Given the description of an element on the screen output the (x, y) to click on. 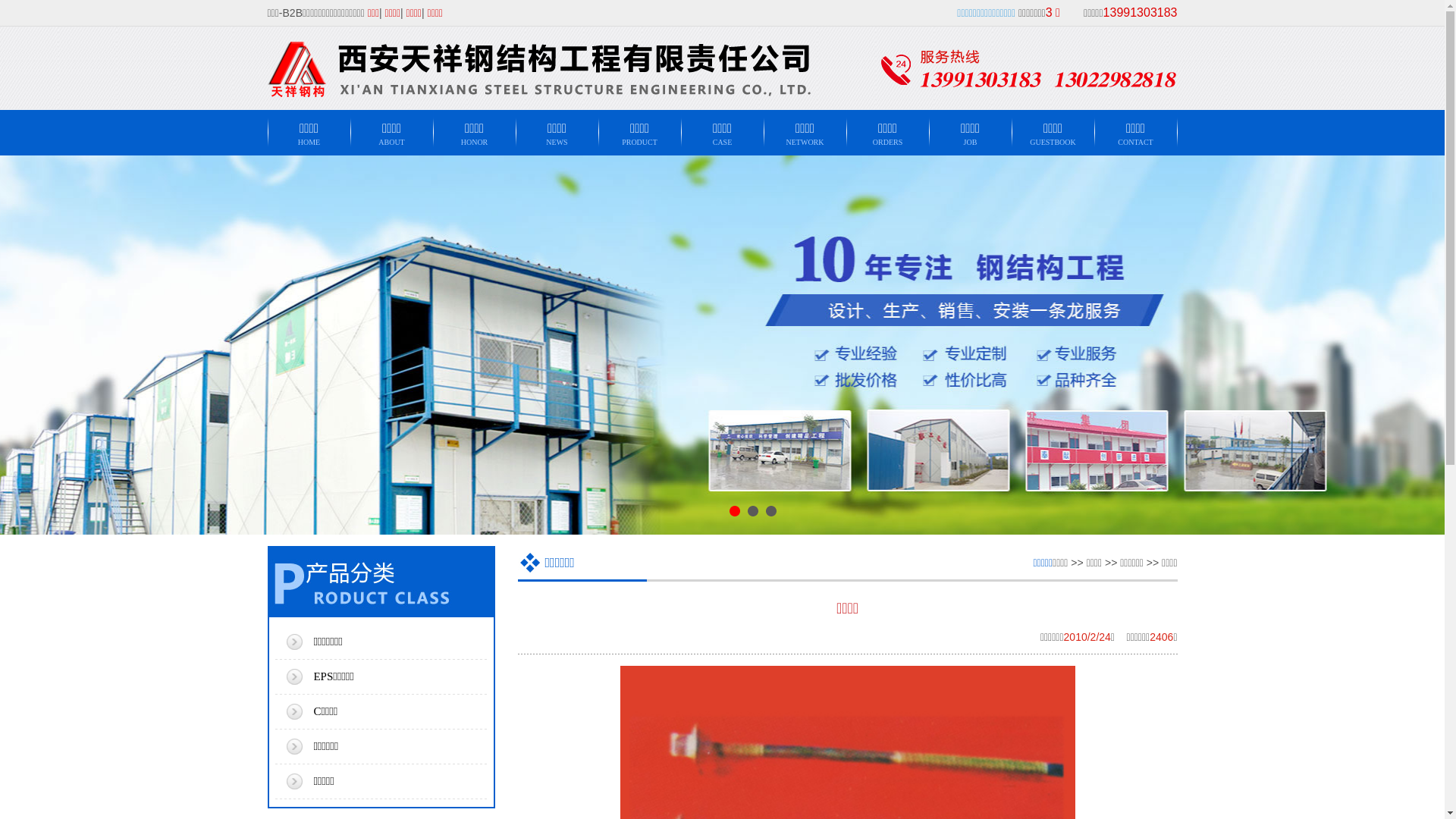
2 Element type: text (752, 510)
1 Element type: text (734, 510)
3 Element type: text (770, 510)
